Given the description of an element on the screen output the (x, y) to click on. 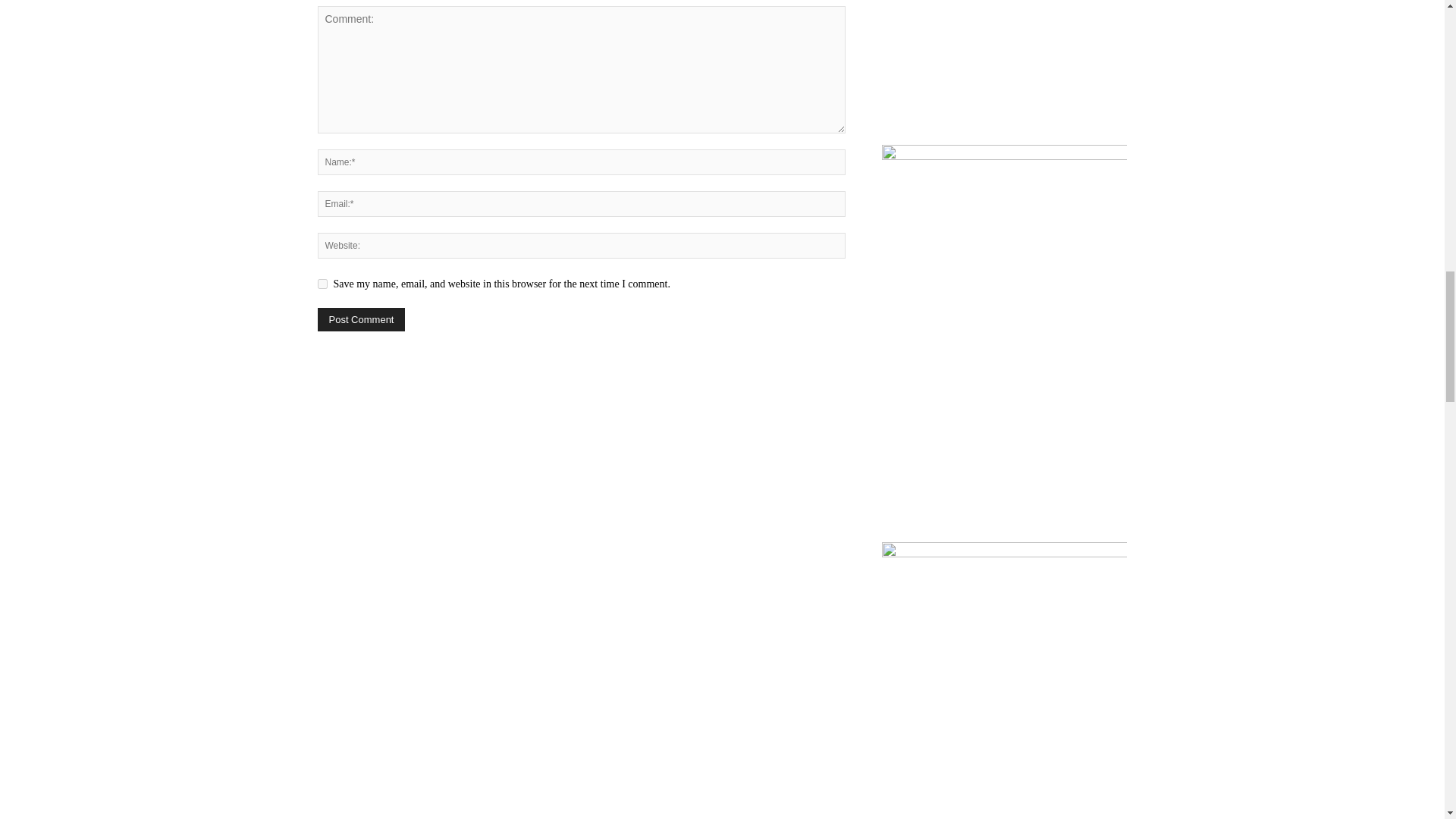
Post Comment (360, 319)
yes (321, 284)
